Given the description of an element on the screen output the (x, y) to click on. 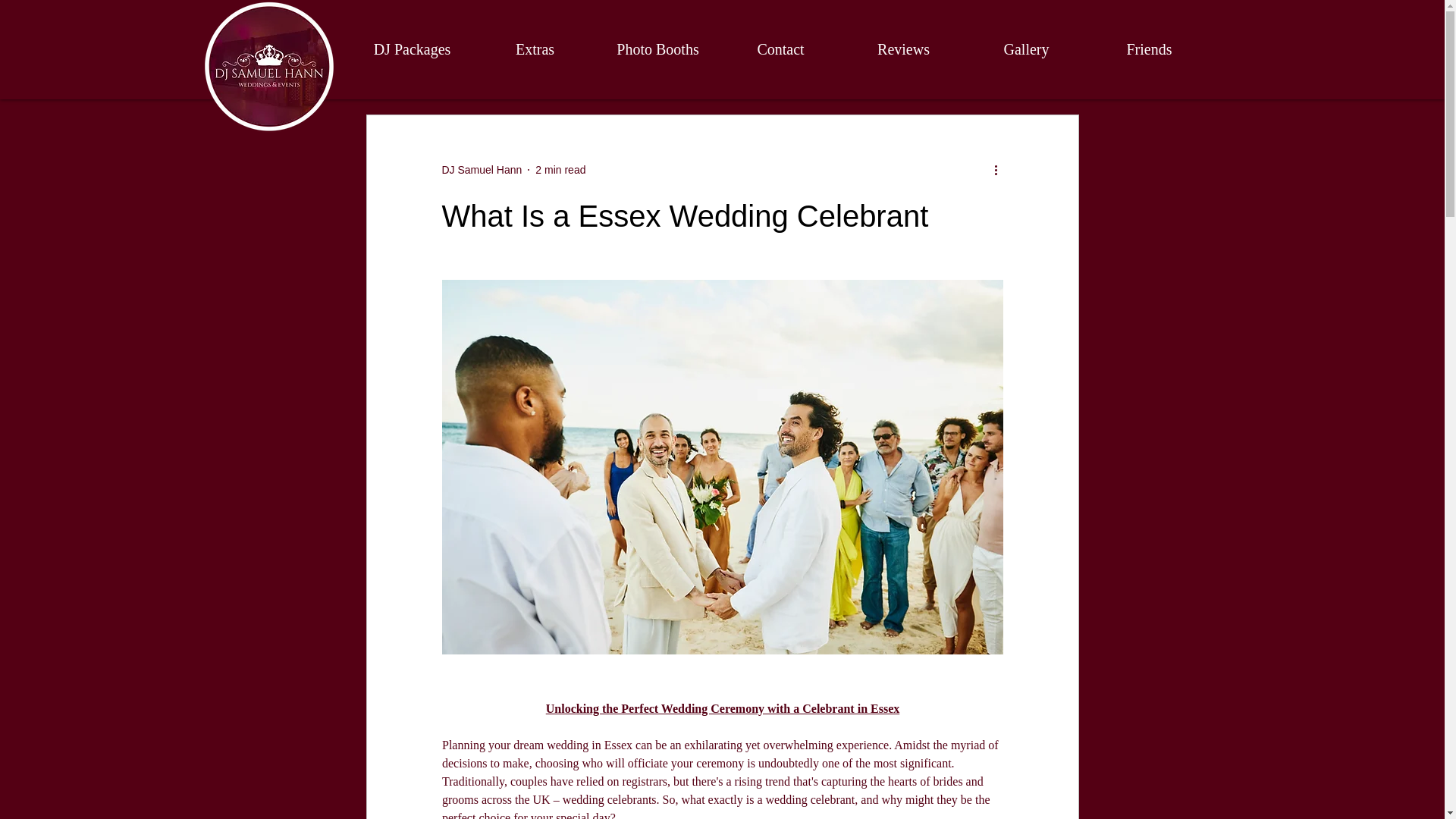
DJ Samuel Hann (481, 170)
DJ Samuel Hann (481, 170)
Gallery (1025, 48)
Contact (780, 48)
Friends (1148, 48)
2 min read (560, 169)
Reviews (902, 48)
